Given the description of an element on the screen output the (x, y) to click on. 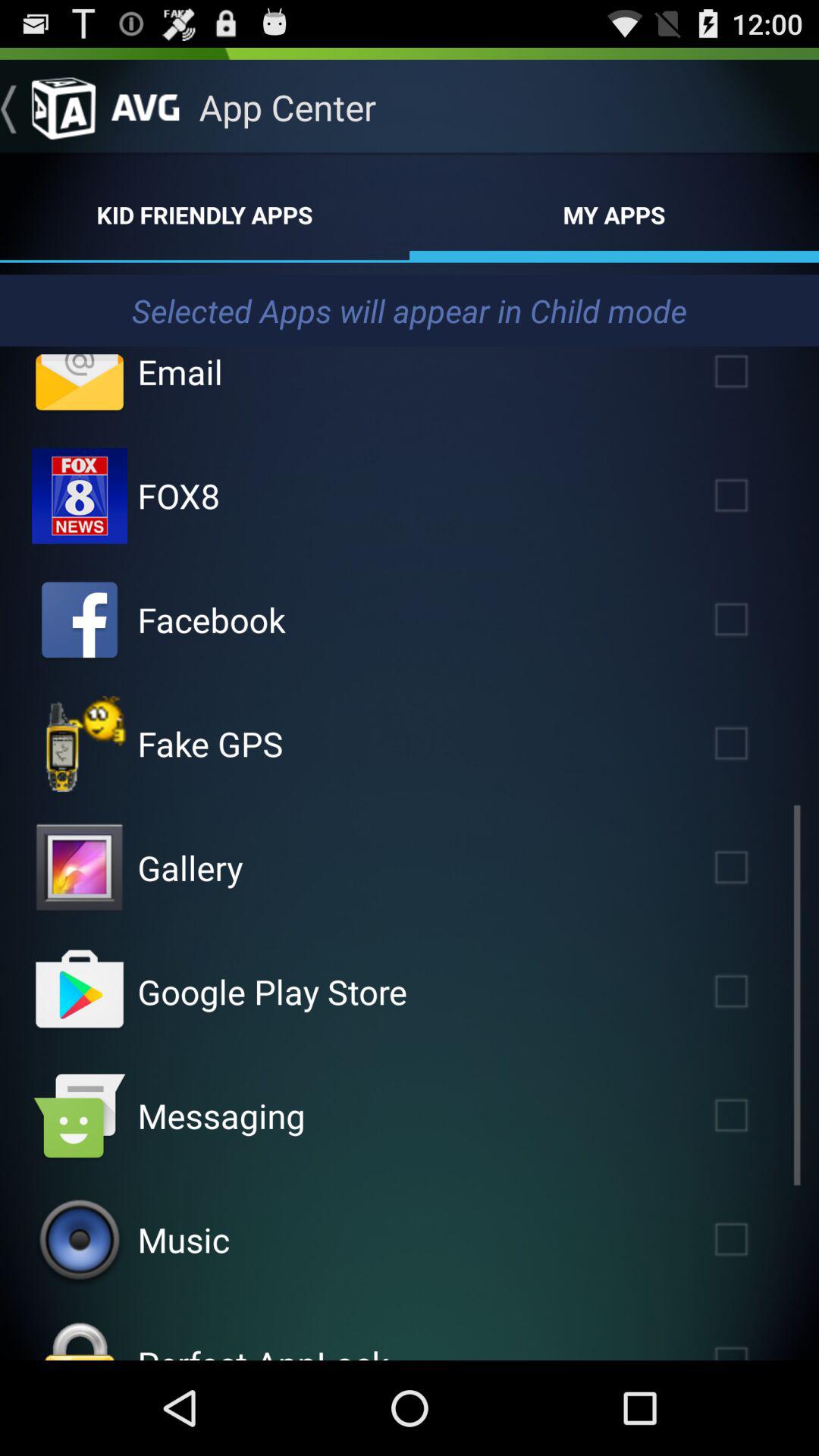
button to go to music (79, 1239)
